Given the description of an element on the screen output the (x, y) to click on. 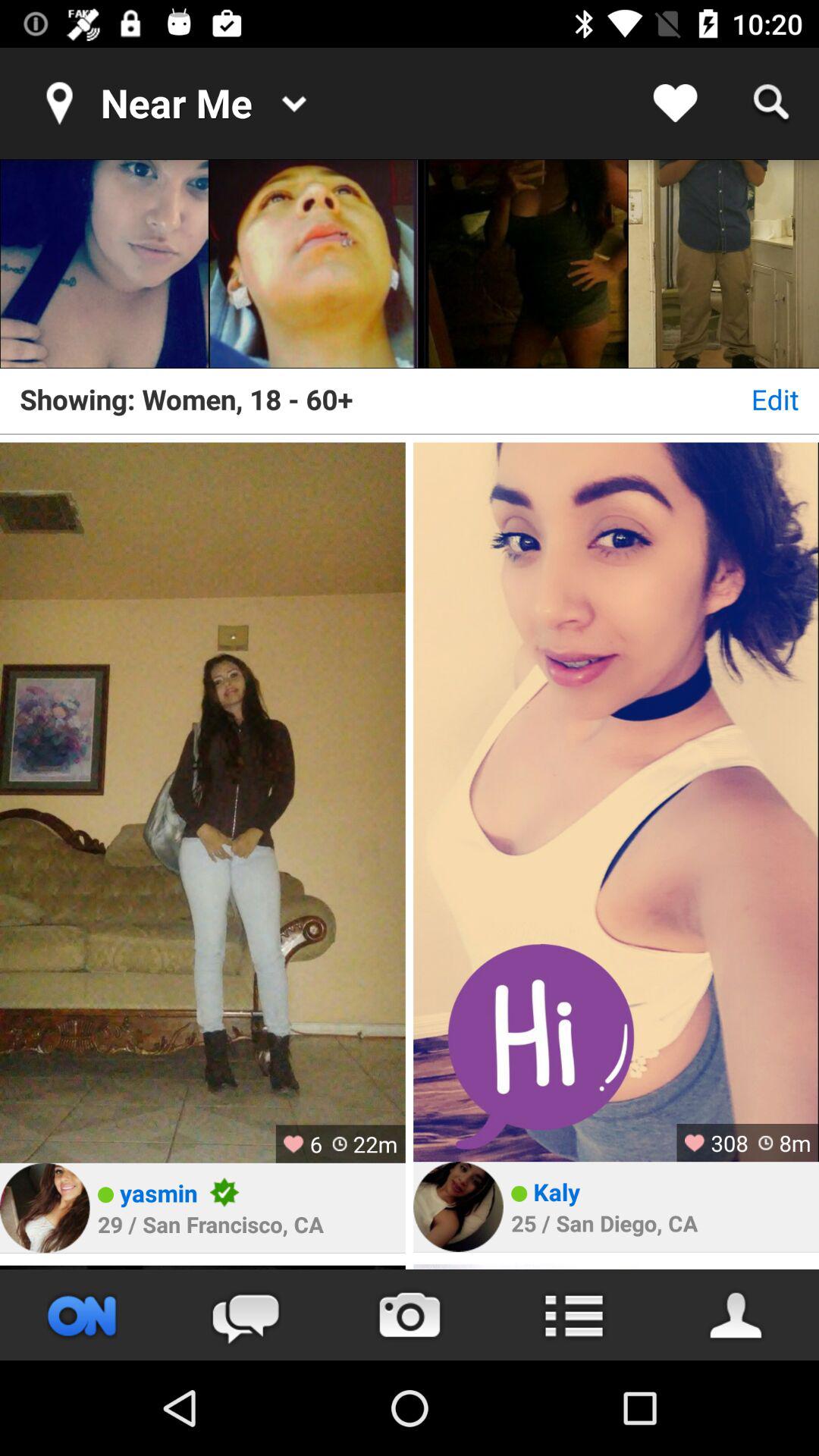
turn on the yasmin icon (158, 1192)
